Given the description of an element on the screen output the (x, y) to click on. 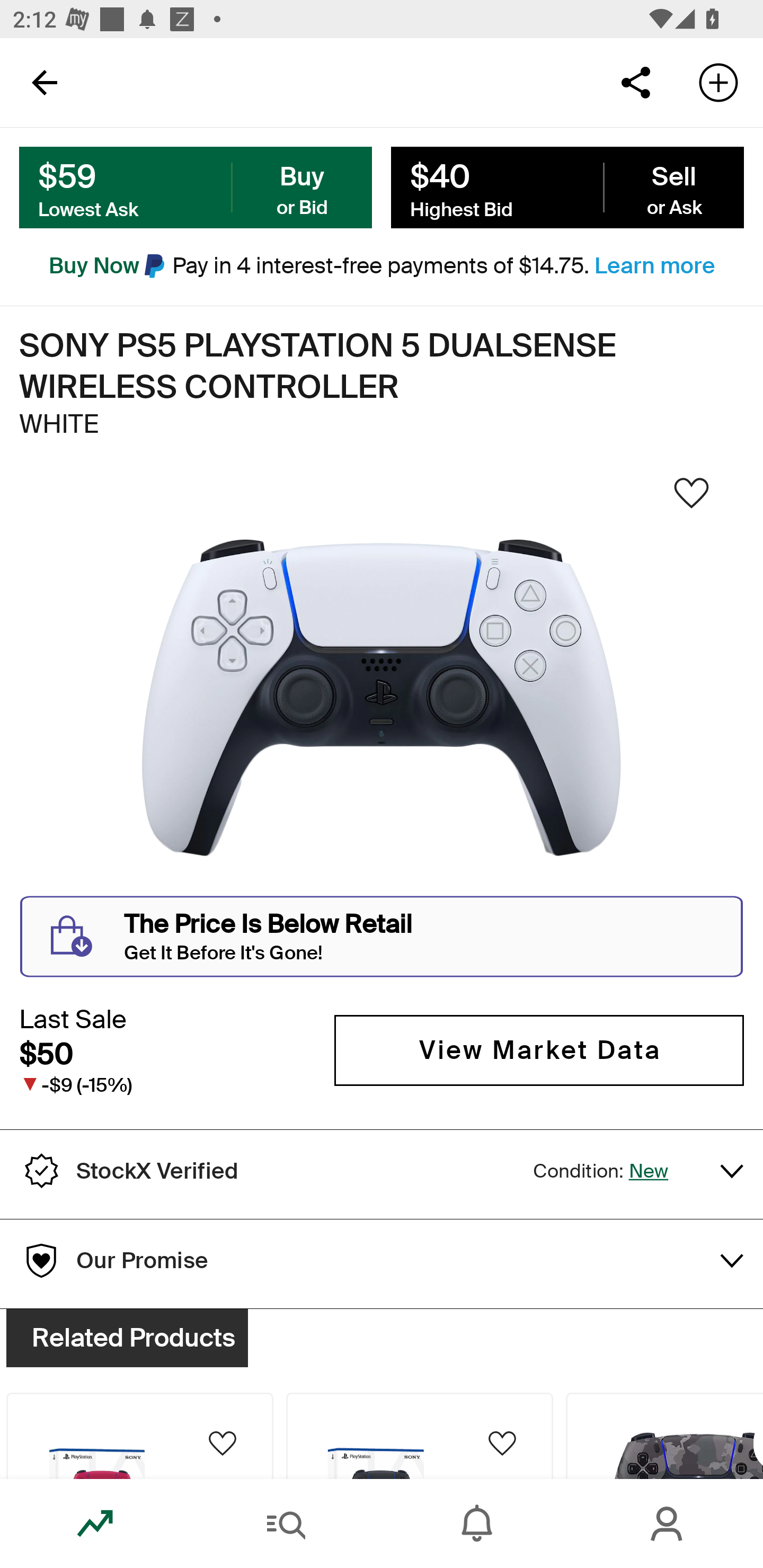
Share (635, 81)
Add (718, 81)
$233 Buy Lowest Ask or Bid (195, 187)
$219 Sell Highest Bid or Ask (566, 187)
Sneaker Image (381, 698)
View Market Data (538, 1050)
Search (285, 1523)
Inbox (476, 1523)
Account (667, 1523)
